Given the description of an element on the screen output the (x, y) to click on. 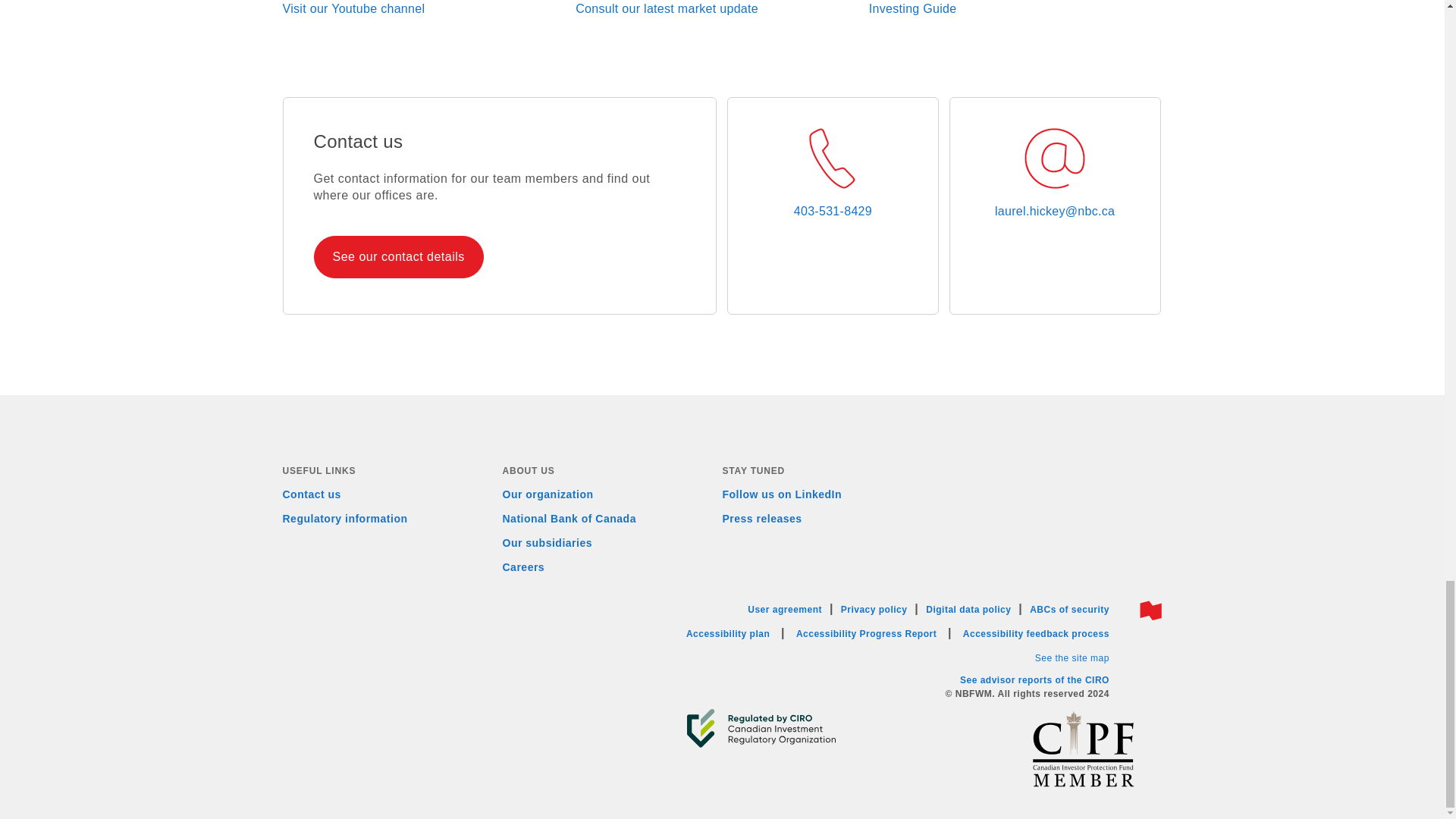
Contact us (311, 494)
Regulatory information (344, 518)
Consult our latest market update (666, 8)
Our organization (547, 494)
Careers (523, 567)
See our contact details (397, 256)
Press releases (762, 518)
Follow us on LinkedIn (781, 494)
National Bank of Canada (568, 518)
Our subsidiaries (546, 542)
